Given the description of an element on the screen output the (x, y) to click on. 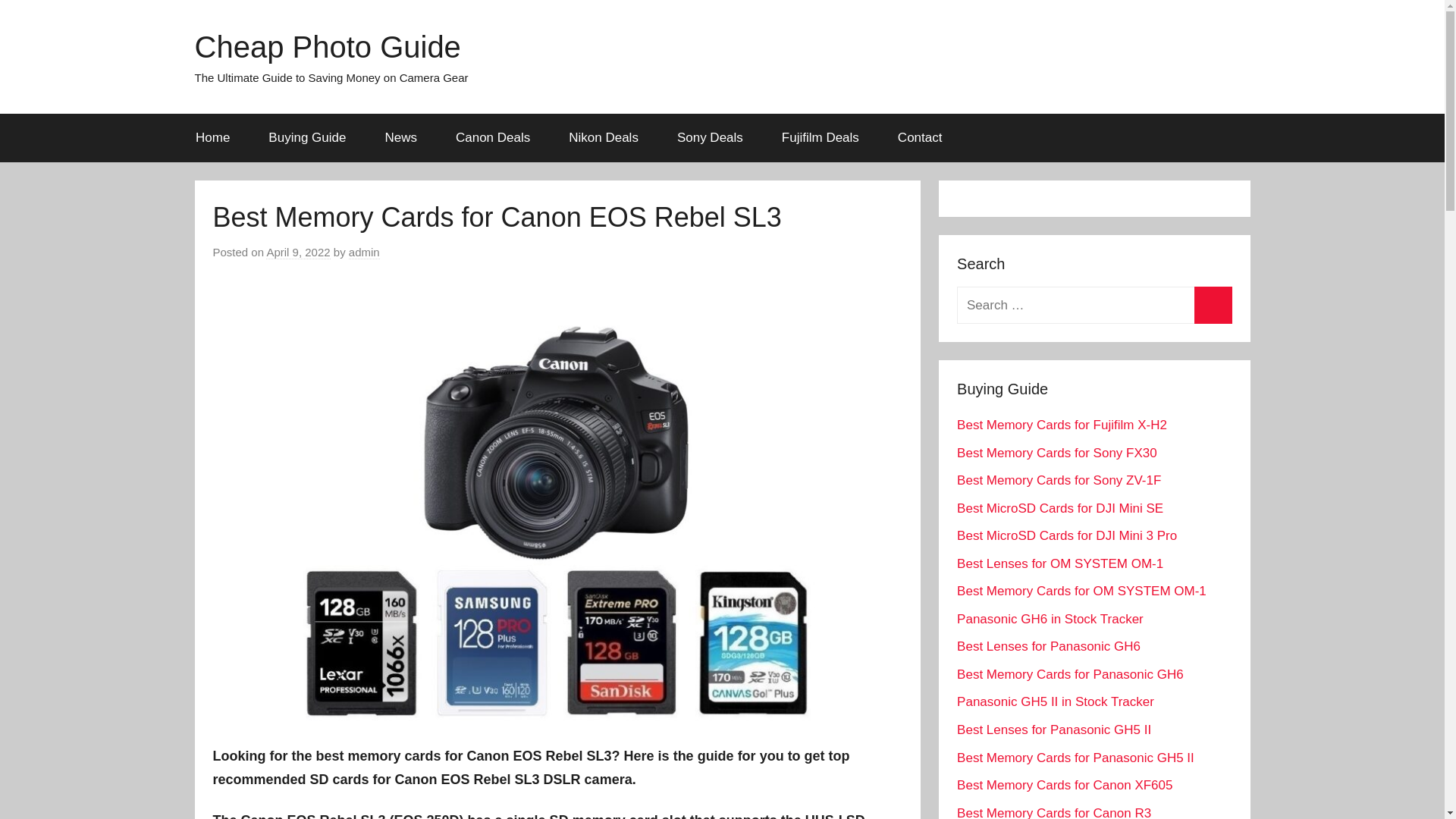
Buying Guide (306, 137)
Cheap Photo Guide (326, 46)
Sony Deals (709, 137)
View all posts by admin (364, 252)
Home (212, 137)
Nikon Deals (604, 137)
admin (364, 252)
News (400, 137)
Contact (918, 137)
Fujifilm Deals (819, 137)
